Given the description of an element on the screen output the (x, y) to click on. 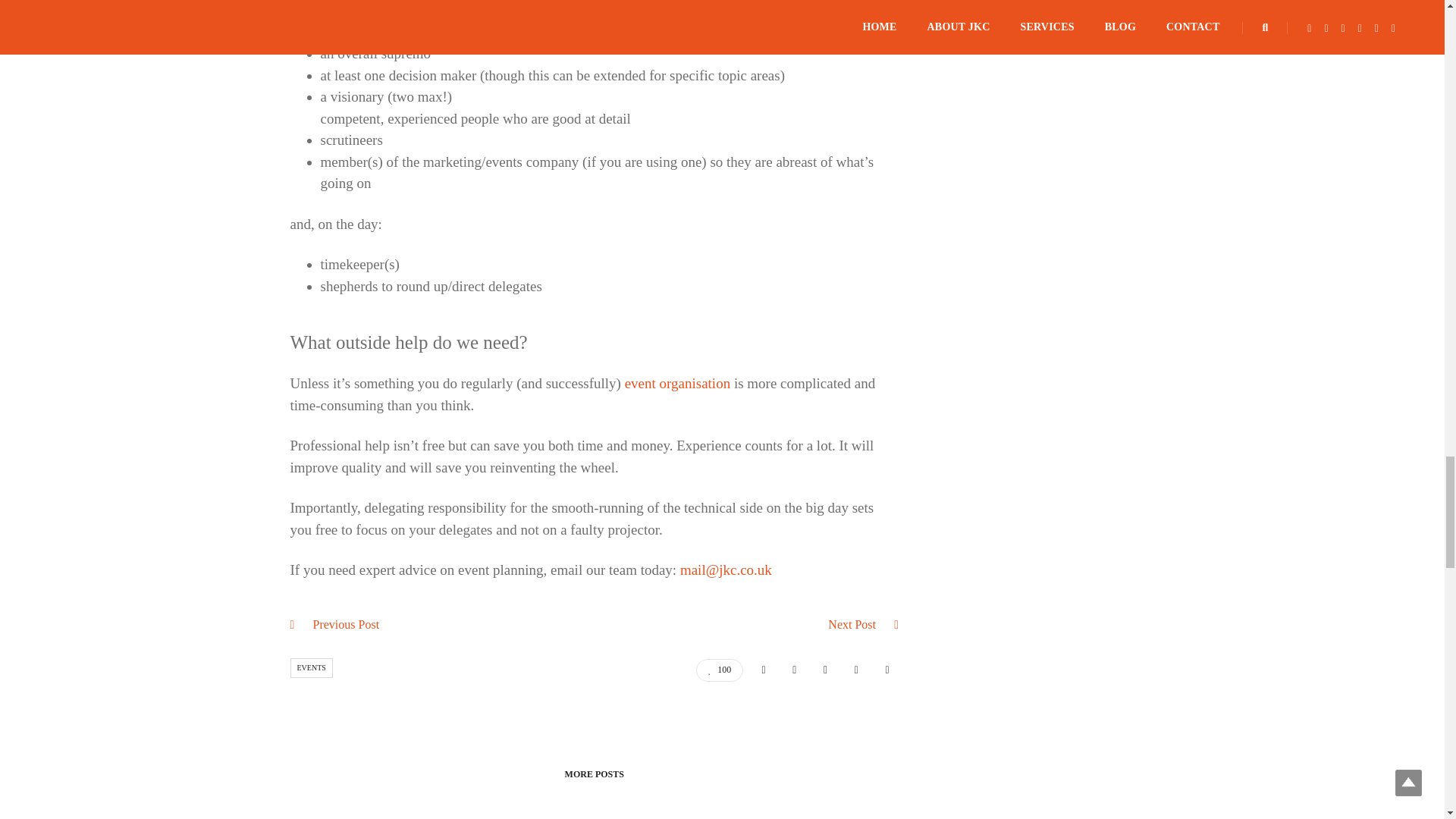
Next Post (852, 623)
EVENTS (310, 668)
Previous Post (345, 623)
Unlike (718, 669)
event organisation (677, 383)
100 (718, 669)
